Given the description of an element on the screen output the (x, y) to click on. 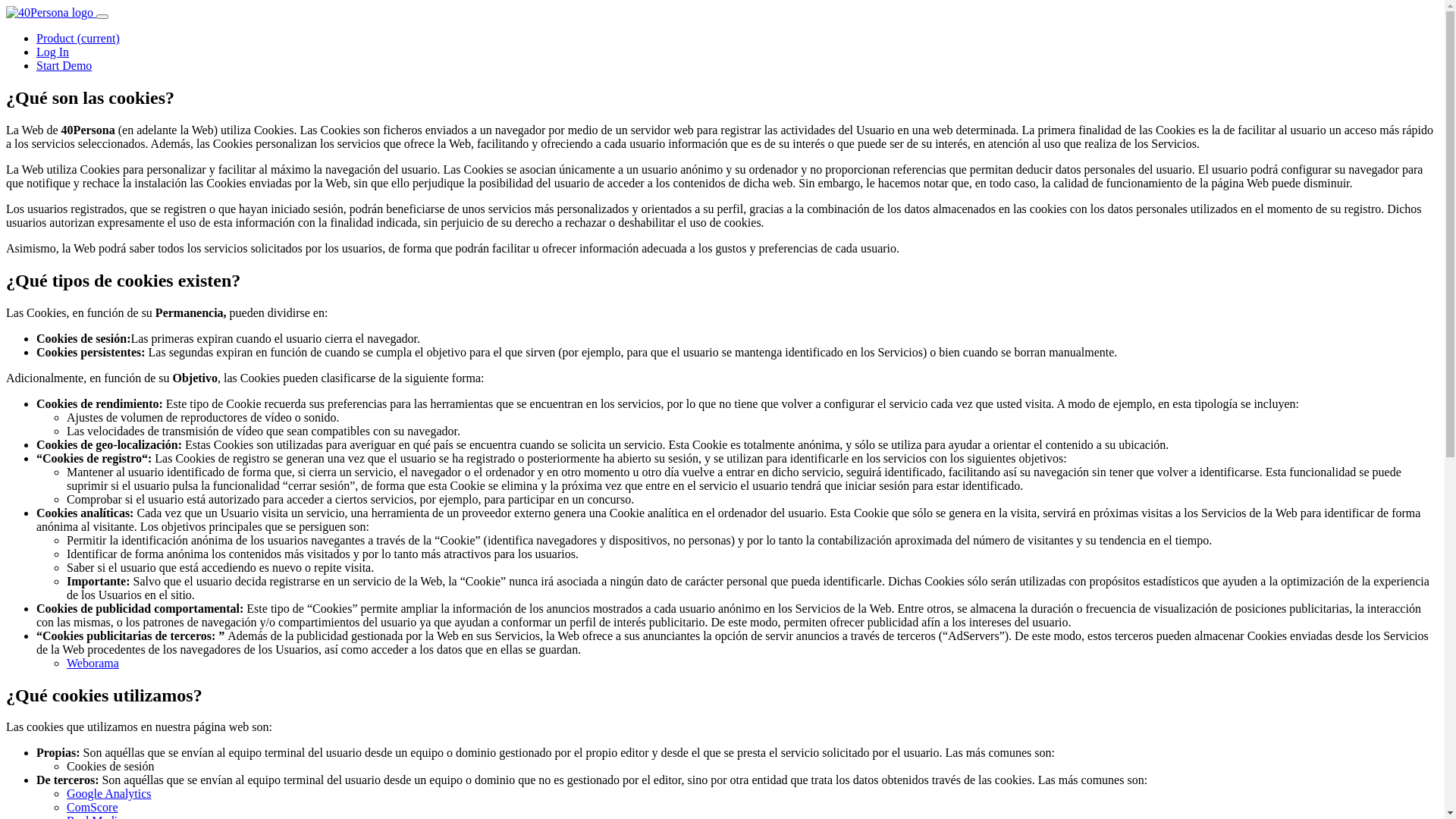
Start Demo Element type: text (63, 65)
ComScore Element type: text (92, 806)
Weborama Element type: text (92, 662)
Google Analytics Element type: text (108, 793)
Log In Element type: text (52, 51)
Product (current) Element type: text (77, 37)
